Given the description of an element on the screen output the (x, y) to click on. 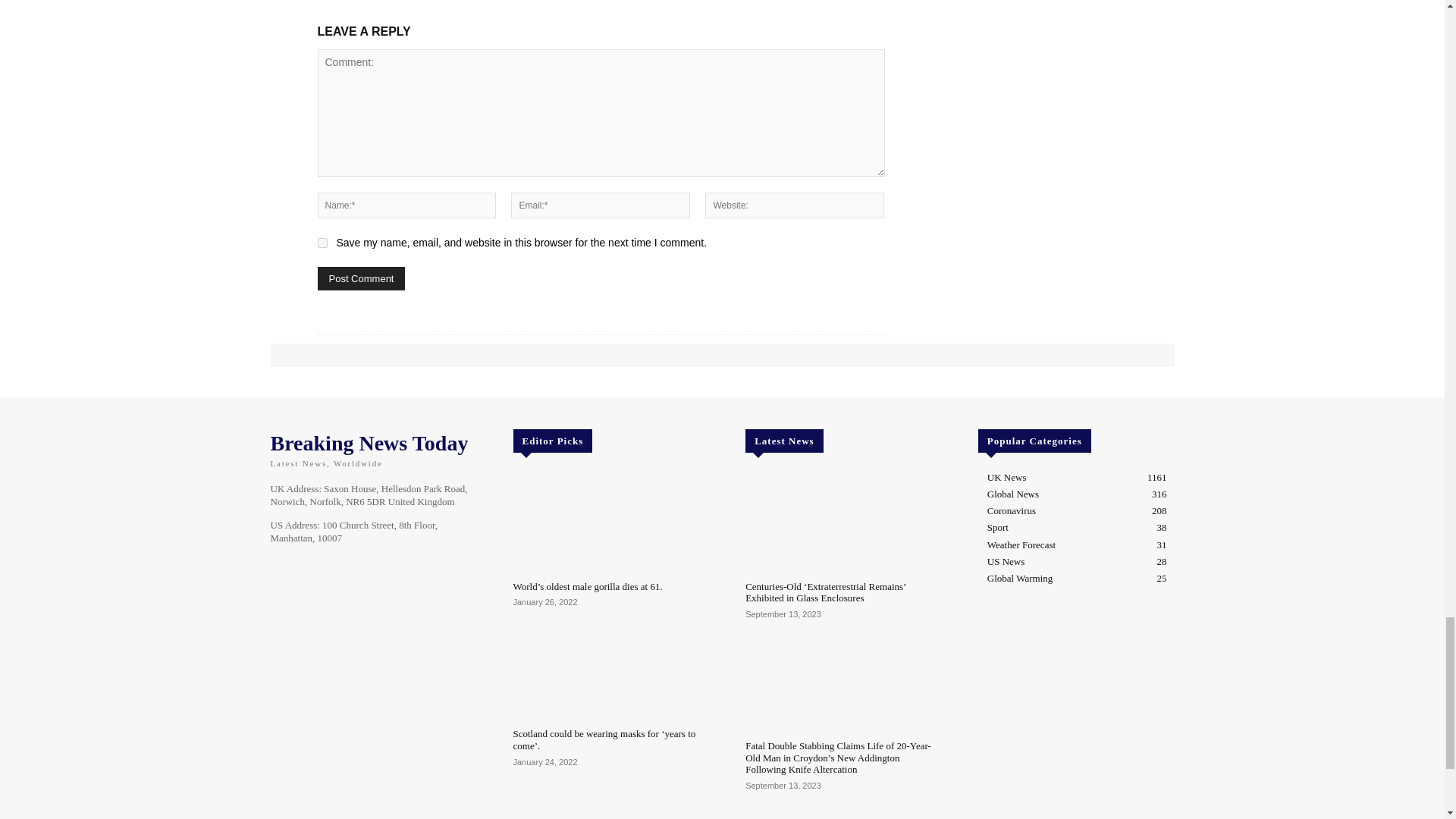
yes (321, 243)
Post Comment (360, 278)
